Given the description of an element on the screen output the (x, y) to click on. 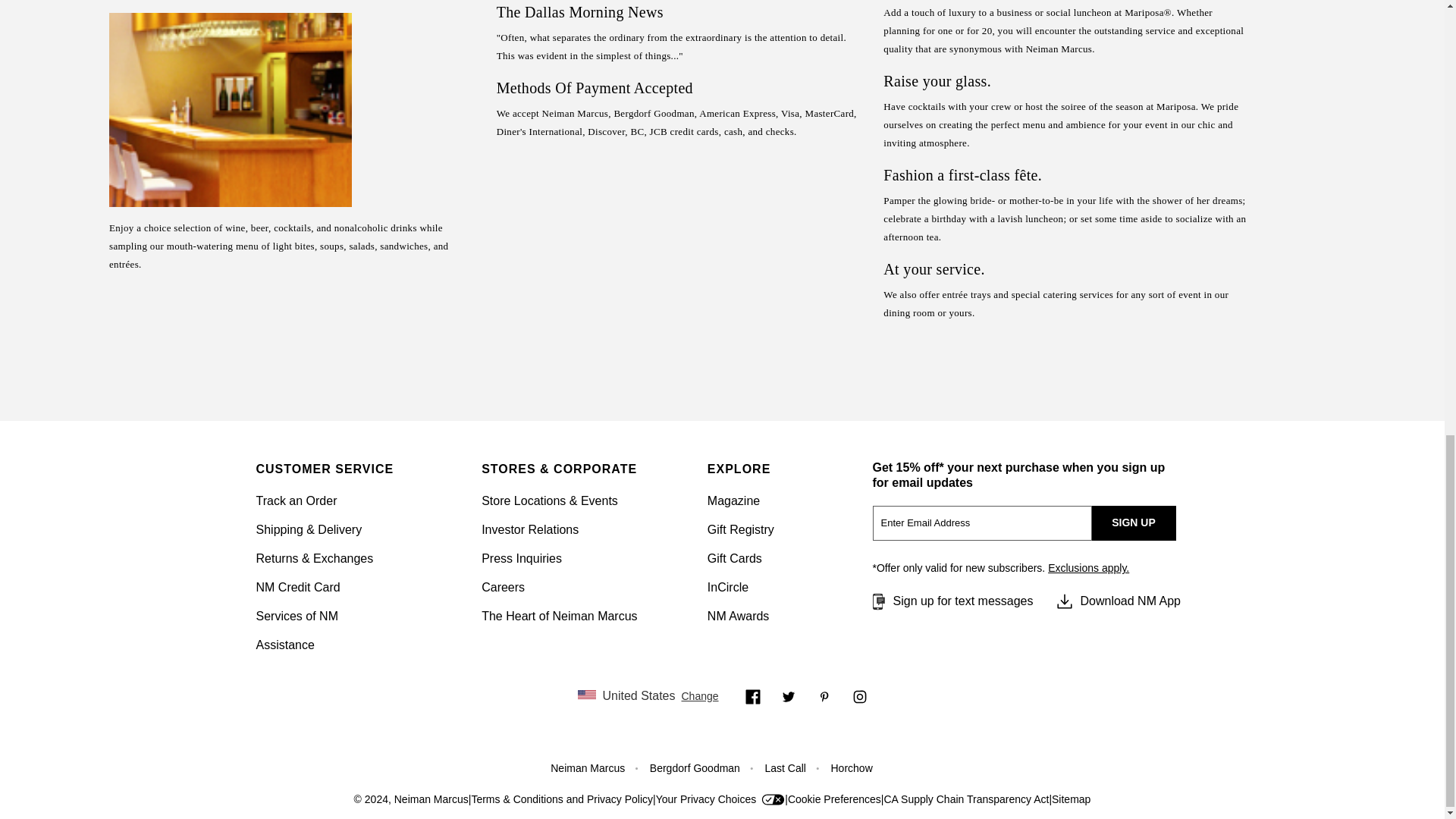
Last Call (784, 767)
Sign up for text messages (951, 601)
Neiman Marcus on Facebook (752, 695)
Download NM App (1117, 601)
Bergdorf Goodman (694, 767)
Neiman Marcus (587, 767)
Neiman Marcus on Instagram (859, 695)
Neiman Marcus on Twitter (788, 695)
Neiman Marcus on Pinterest (823, 695)
Horchow (851, 767)
